Given the description of an element on the screen output the (x, y) to click on. 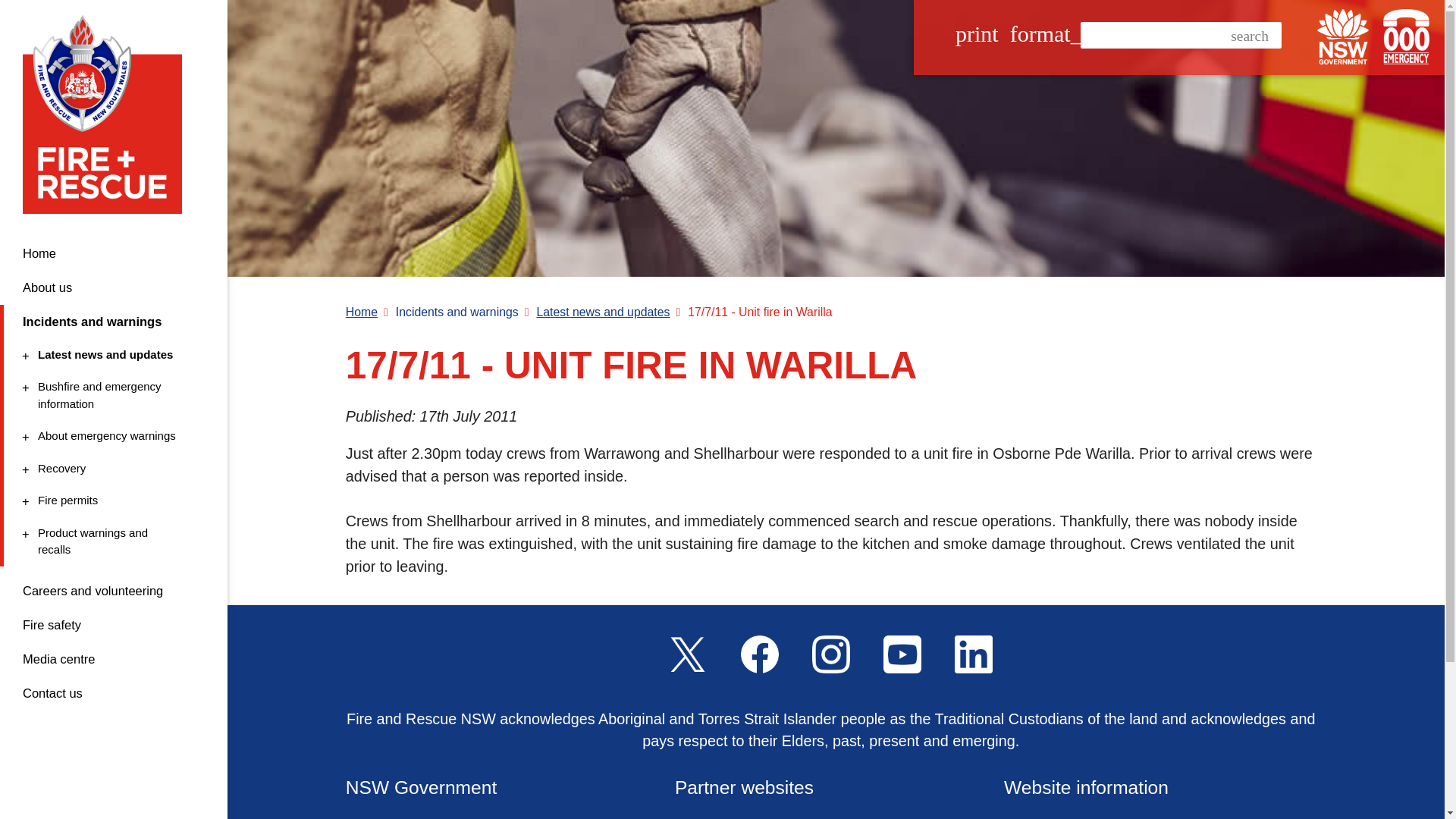
Home (113, 253)
Latest news and updates (111, 354)
Fire and Rescue NSW (107, 114)
NSW Government (1342, 36)
Fire permits (111, 395)
Recovery (111, 500)
About emergency warnings (111, 541)
